Given the description of an element on the screen output the (x, y) to click on. 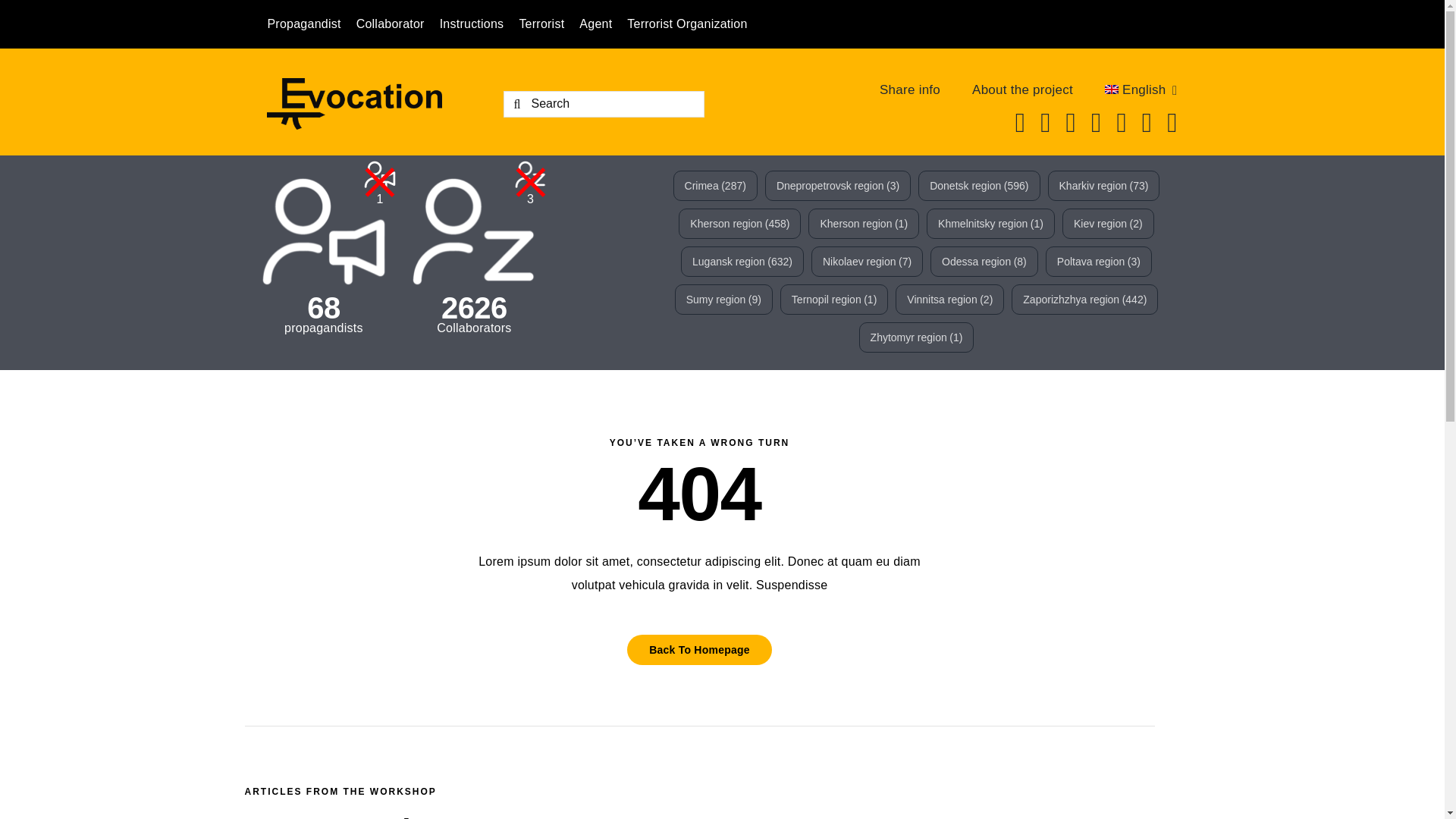
Share info (909, 89)
icon-04 (323, 230)
Instructions (479, 24)
Terrorist (548, 24)
Collaborator (397, 24)
Agent (603, 24)
Terrorist Organization (694, 24)
icon-04 (379, 174)
English (1141, 89)
